Given the description of an element on the screen output the (x, y) to click on. 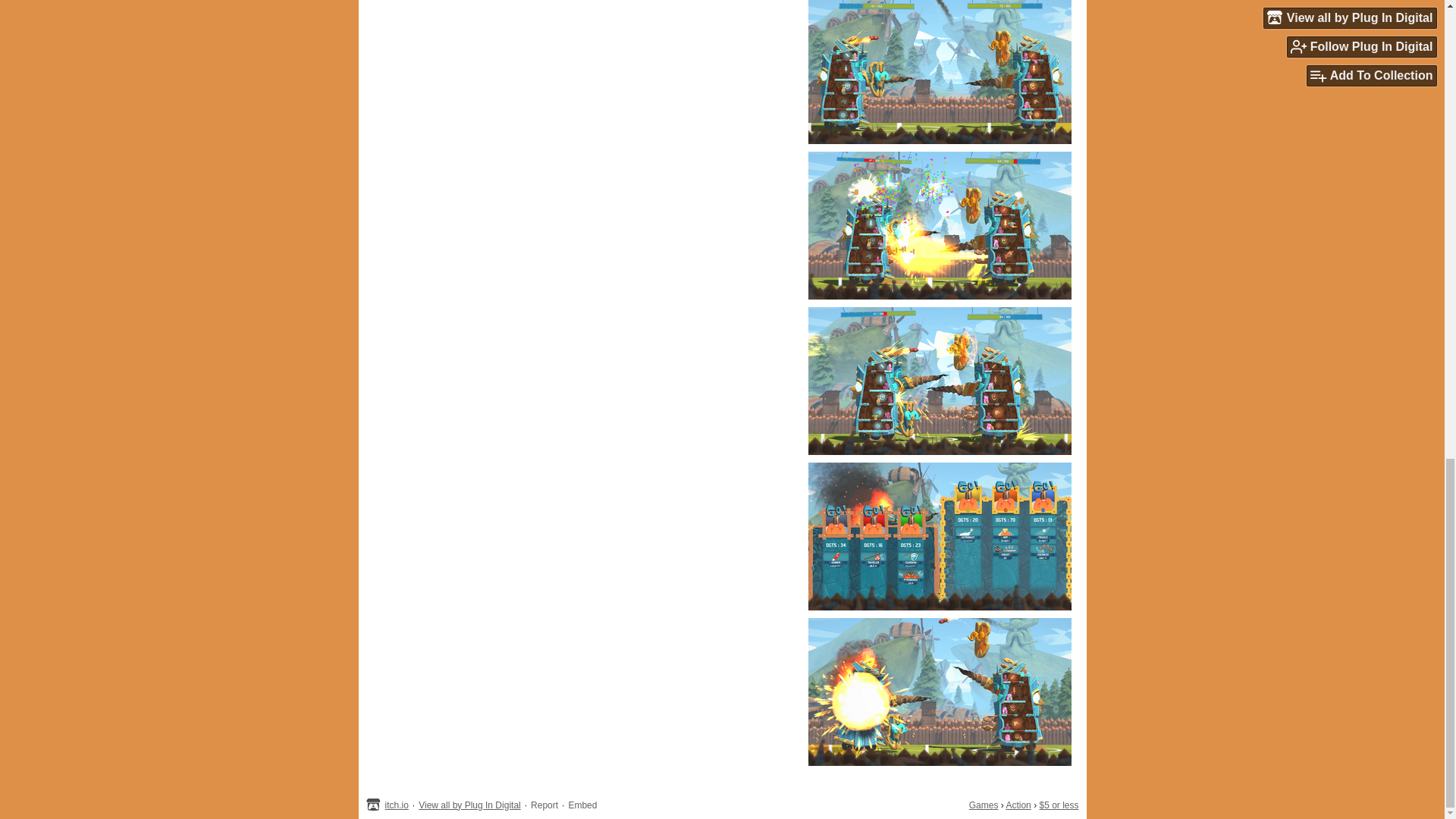
Report (544, 805)
Games (983, 805)
Action (1018, 805)
Embed (581, 805)
itch.io (397, 805)
View all by Plug In Digital (470, 805)
